Given the description of an element on the screen output the (x, y) to click on. 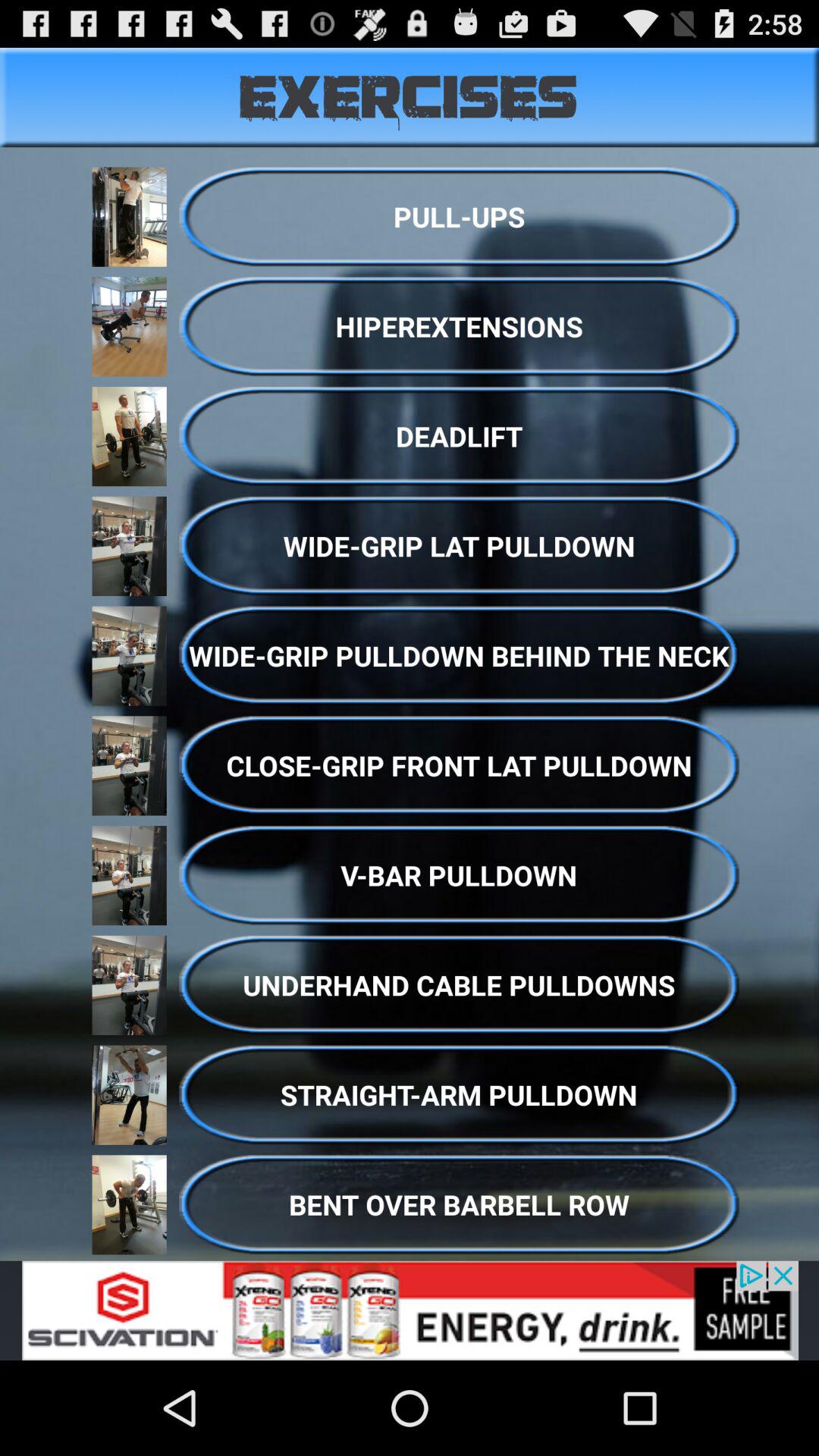
energy drink advertisement (409, 1310)
